Given the description of an element on the screen output the (x, y) to click on. 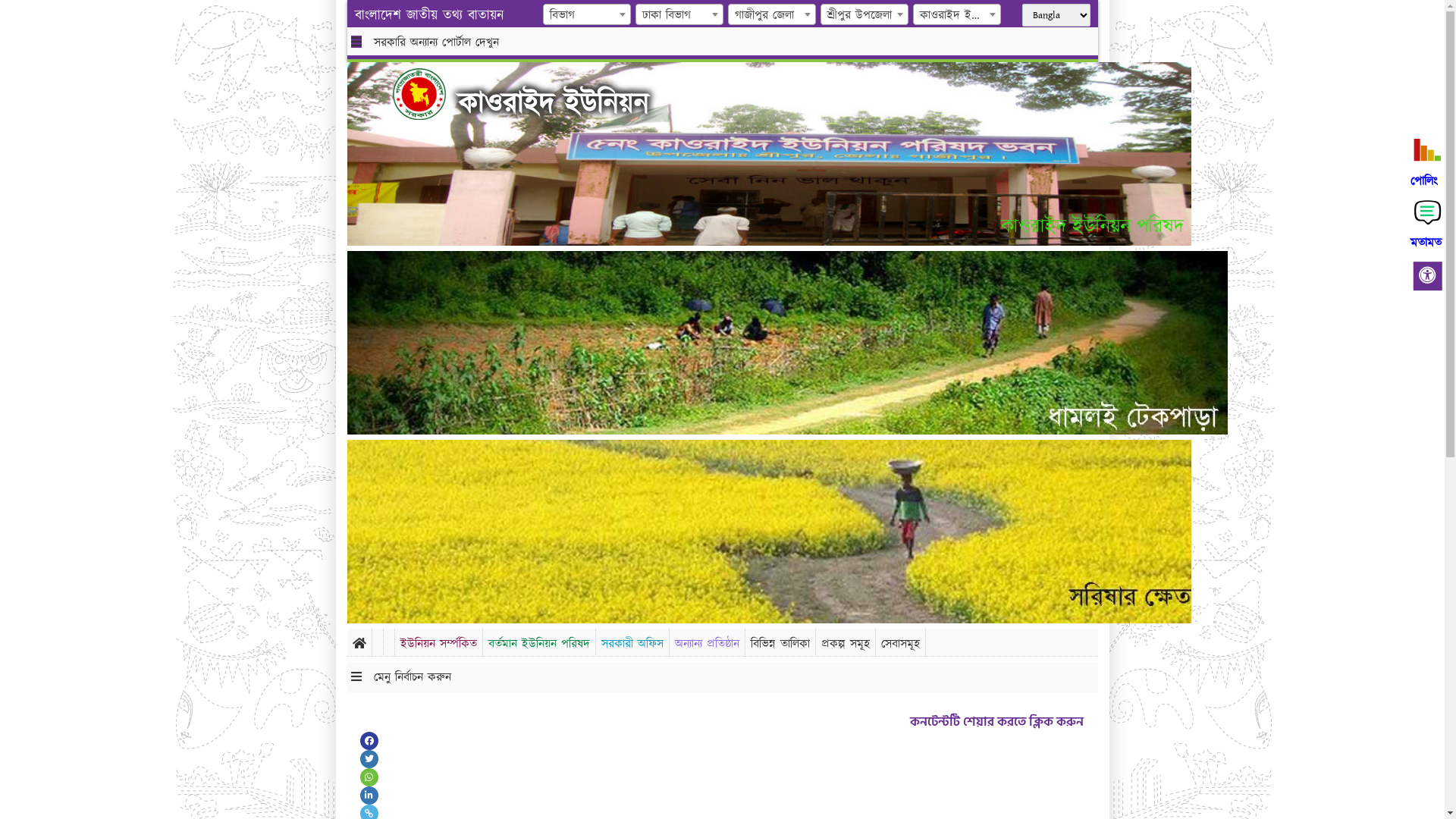

                
             Element type: hover (430, 93)
